Given the description of an element on the screen output the (x, y) to click on. 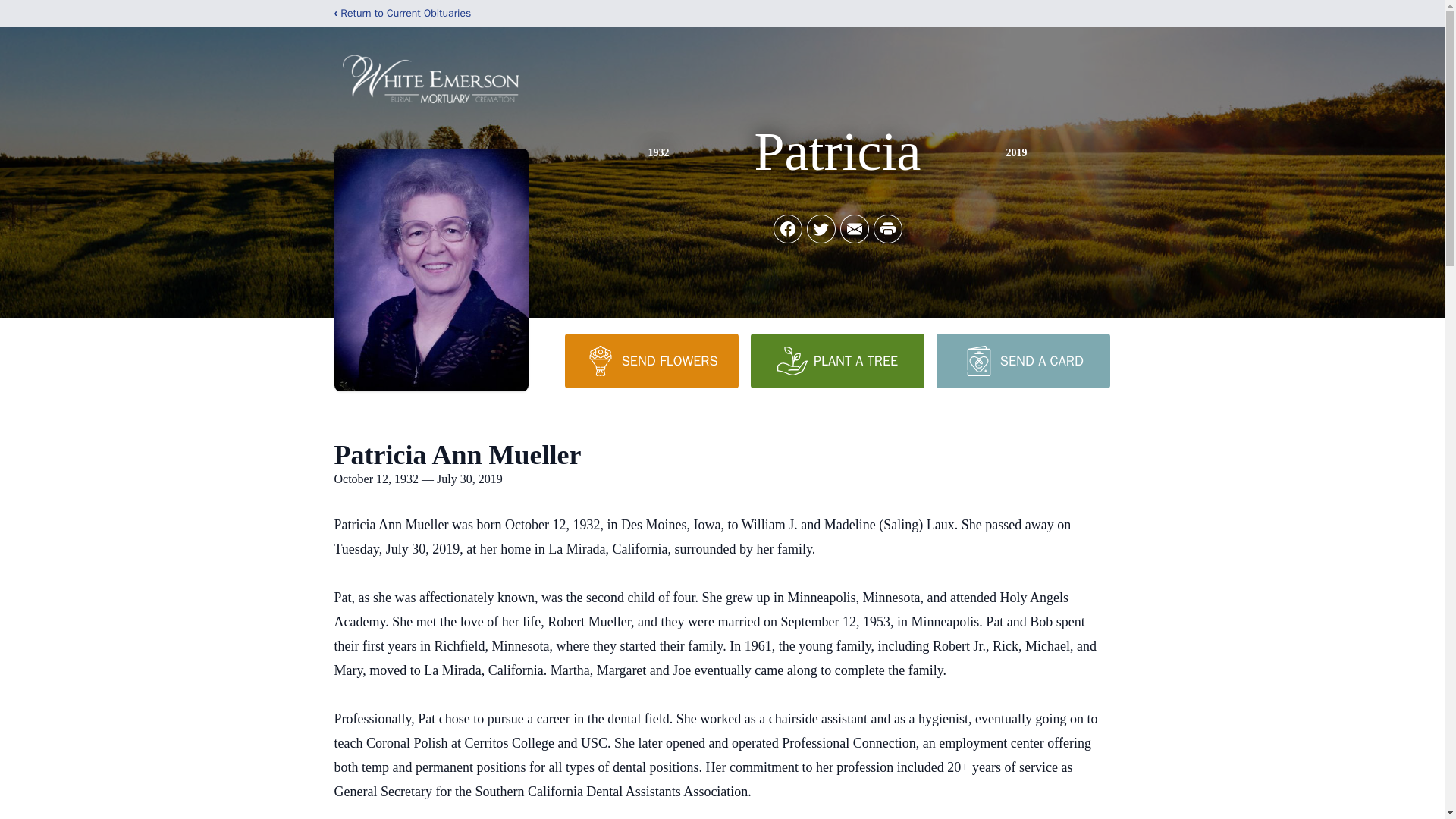
PLANT A TREE (837, 360)
SEND FLOWERS (651, 360)
SEND A CARD (1022, 360)
